Given the description of an element on the screen output the (x, y) to click on. 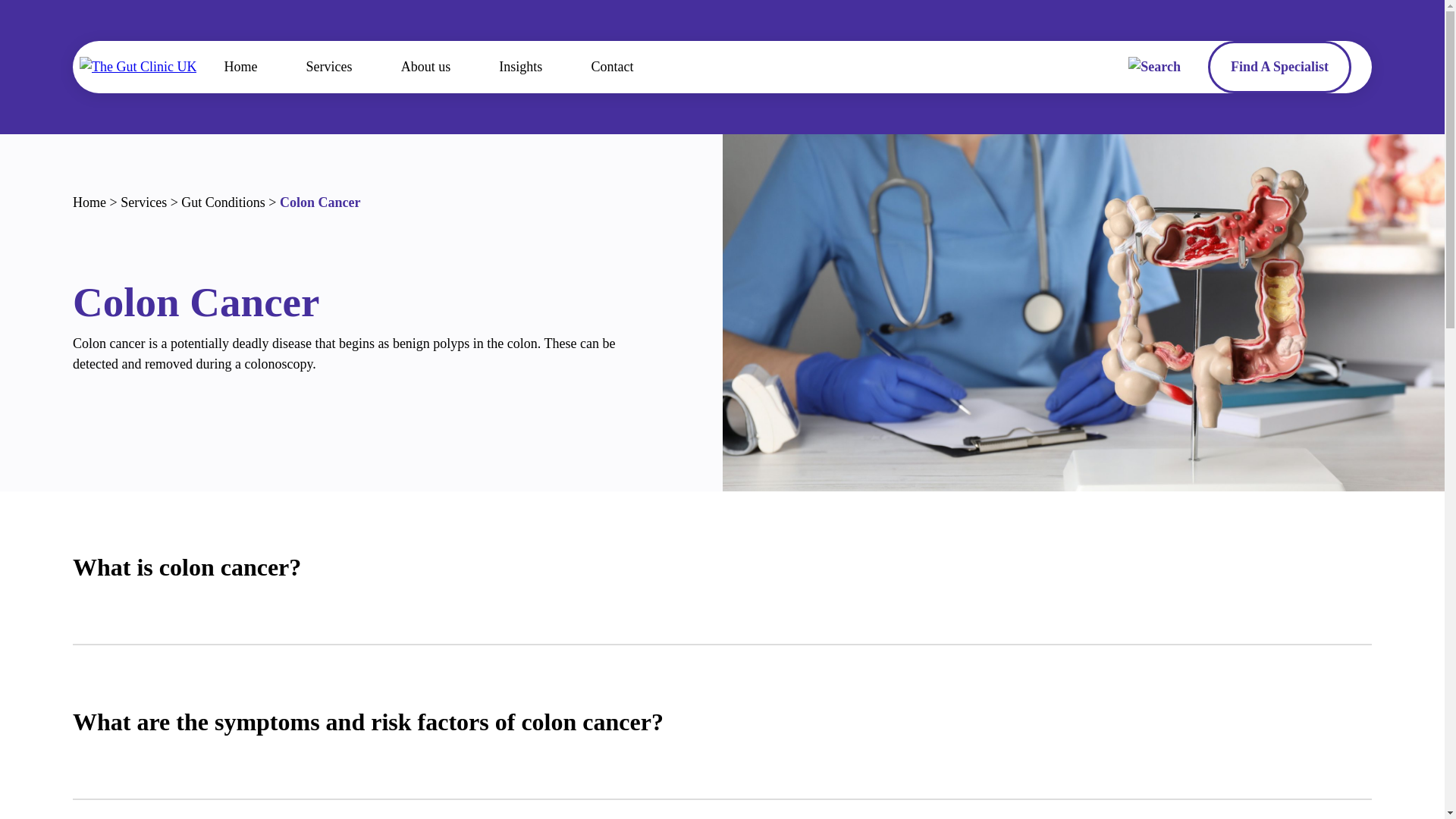
Gut Conditions (222, 201)
Services (328, 66)
Home (89, 201)
Contact (612, 66)
Insights (520, 66)
Find A Specialist (1279, 66)
About us (426, 66)
Home (240, 66)
Services (143, 201)
